Given the description of an element on the screen output the (x, y) to click on. 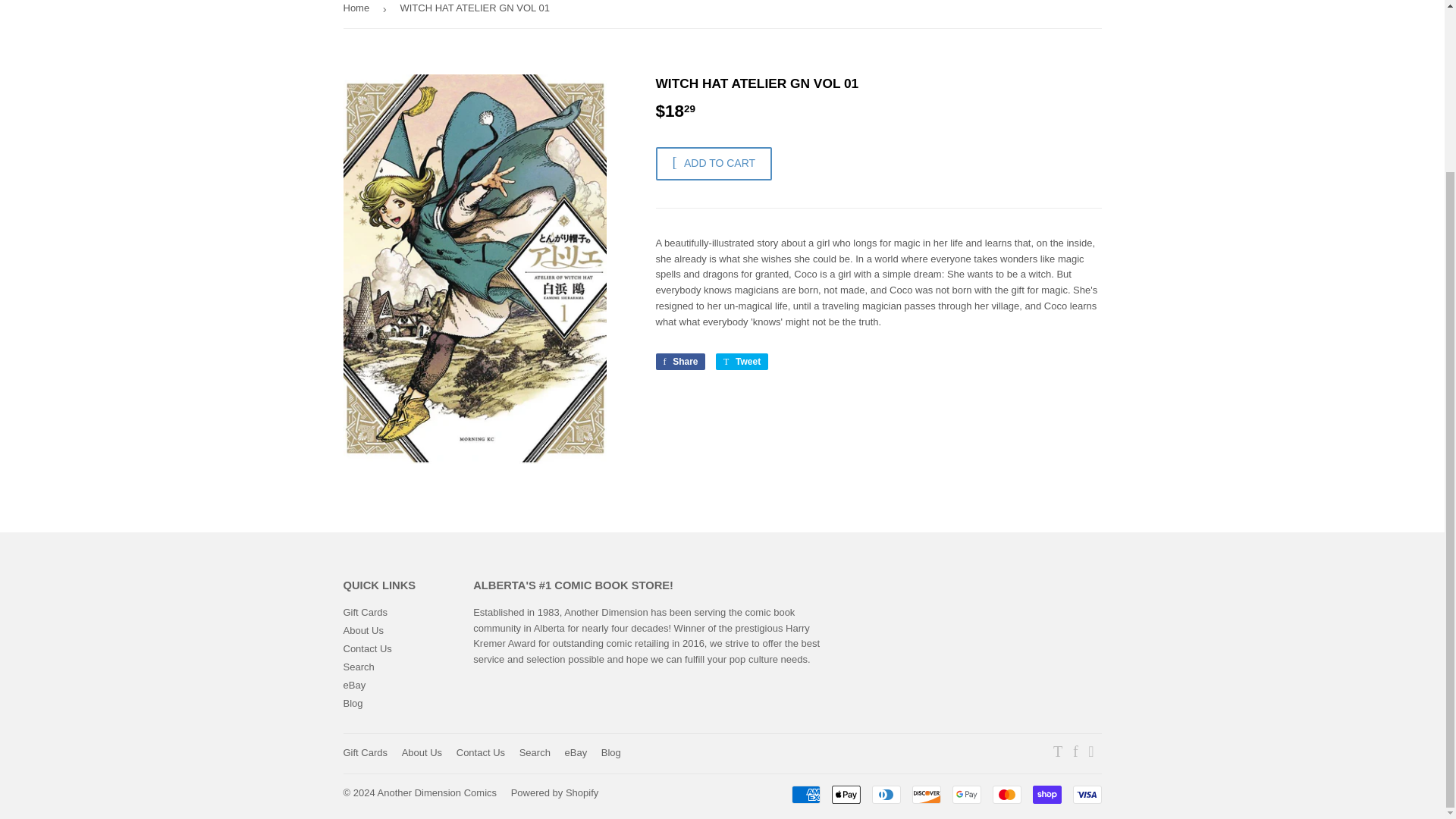
Mastercard (1005, 794)
Apple Pay (845, 794)
Share on Facebook (679, 361)
Back to the frontpage (358, 13)
Discover (925, 794)
Google Pay (966, 794)
Visa (1085, 794)
American Express (806, 794)
Diners Club (886, 794)
Tweet on Twitter (742, 361)
